Given the description of an element on the screen output the (x, y) to click on. 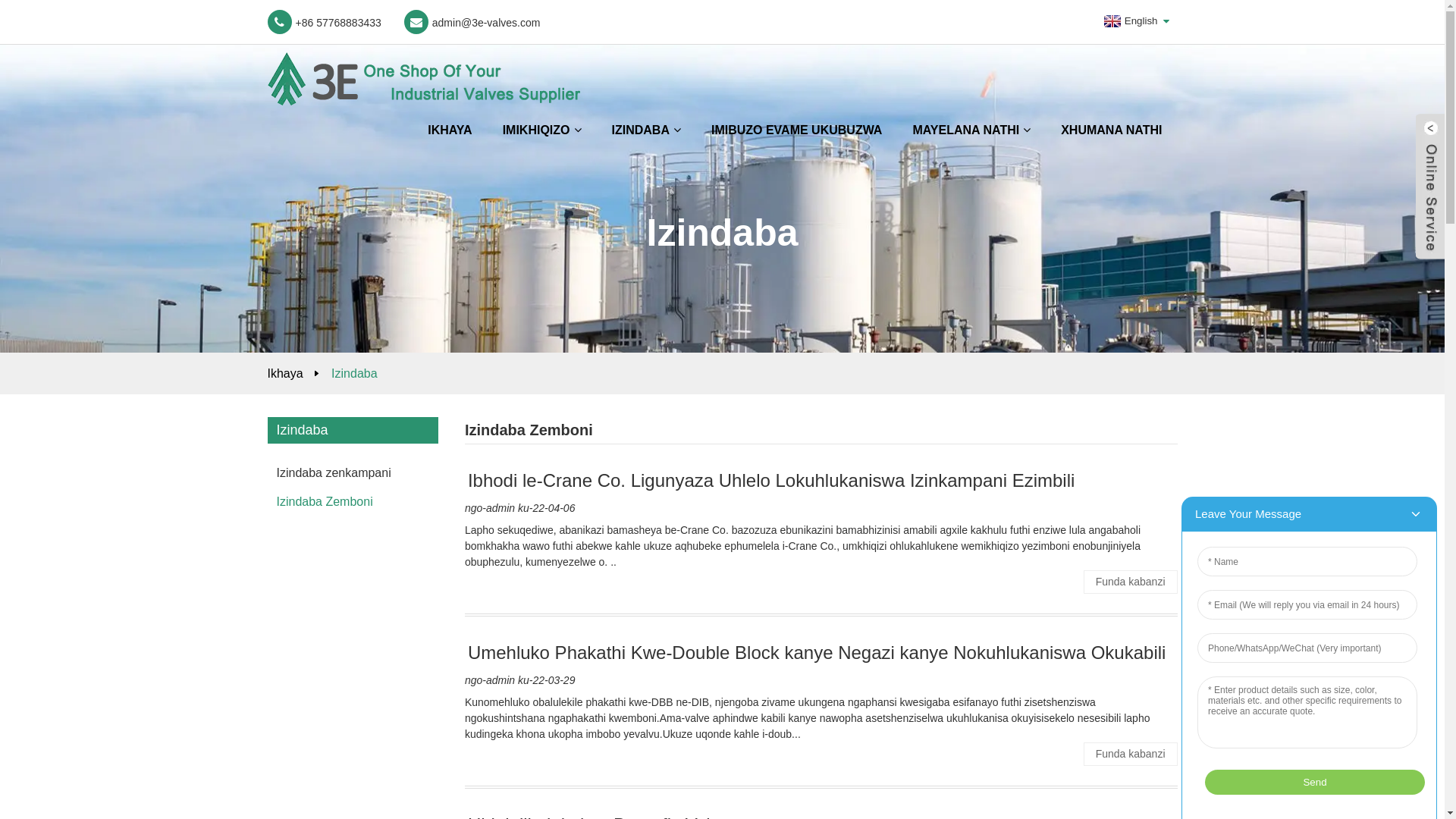
IKHAYA Element type: text (449, 129)
Funda kabanzi Element type: text (1130, 581)
IMIBUZO EVAME UKUBUZWA Element type: text (796, 129)
XHUMANA NATHI Element type: text (1110, 129)
Ikhaya Element type: text (284, 373)
Izindaba zenkampani Element type: text (349, 472)
English Element type: text (1128, 21)
IMIKHIQIZO Element type: text (541, 129)
Izindaba Element type: text (354, 373)
IZINDABA Element type: text (646, 129)
Izindaba Zemboni Element type: text (349, 501)
MAYELANA NATHI Element type: text (971, 129)
Funda kabanzi Element type: text (1130, 753)
admin@3e-valves.com Element type: text (472, 21)
